Given the description of an element on the screen output the (x, y) to click on. 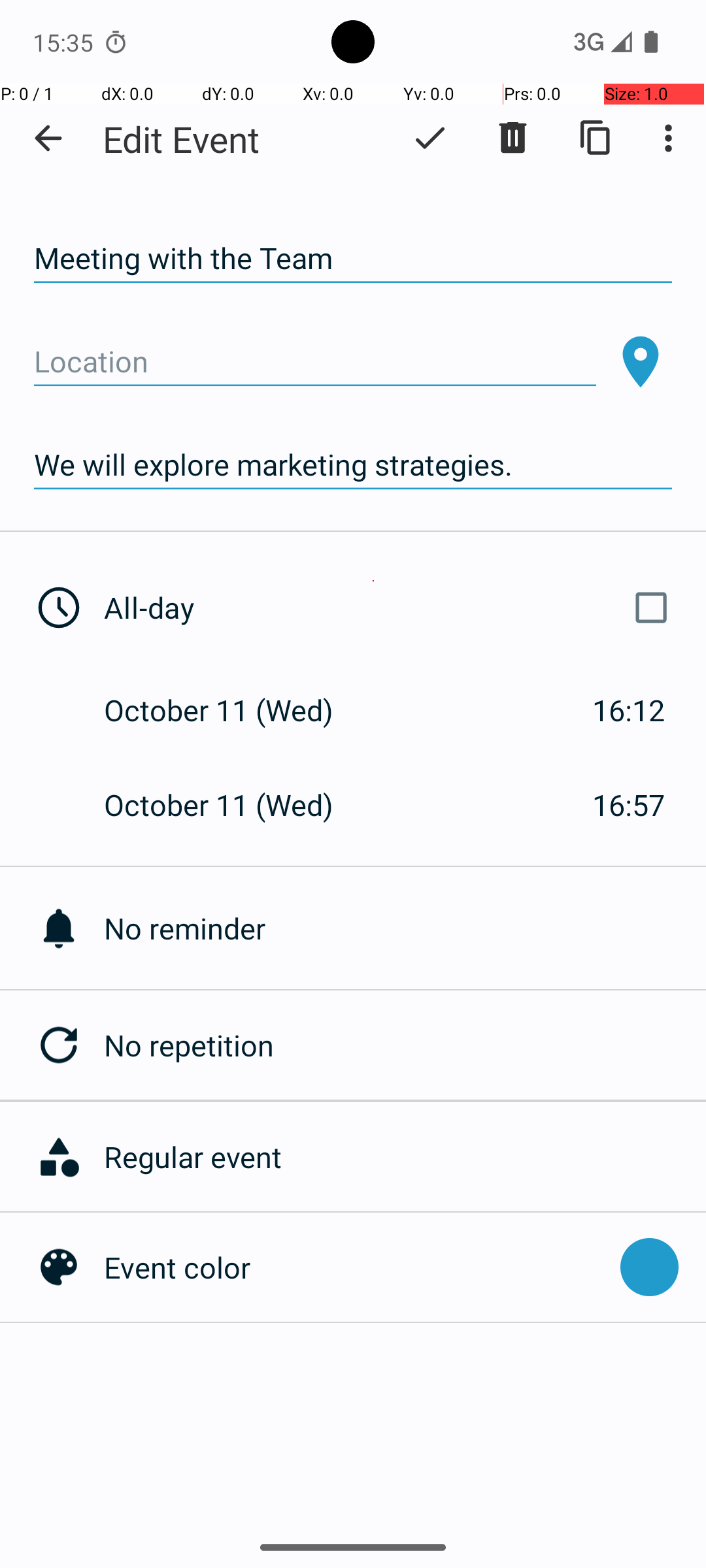
We will explore marketing strategies. Element type: android.widget.EditText (352, 465)
October 11 (Wed) Element type: android.widget.TextView (232, 709)
16:12 Element type: android.widget.TextView (628, 709)
16:57 Element type: android.widget.TextView (628, 804)
